Given the description of an element on the screen output the (x, y) to click on. 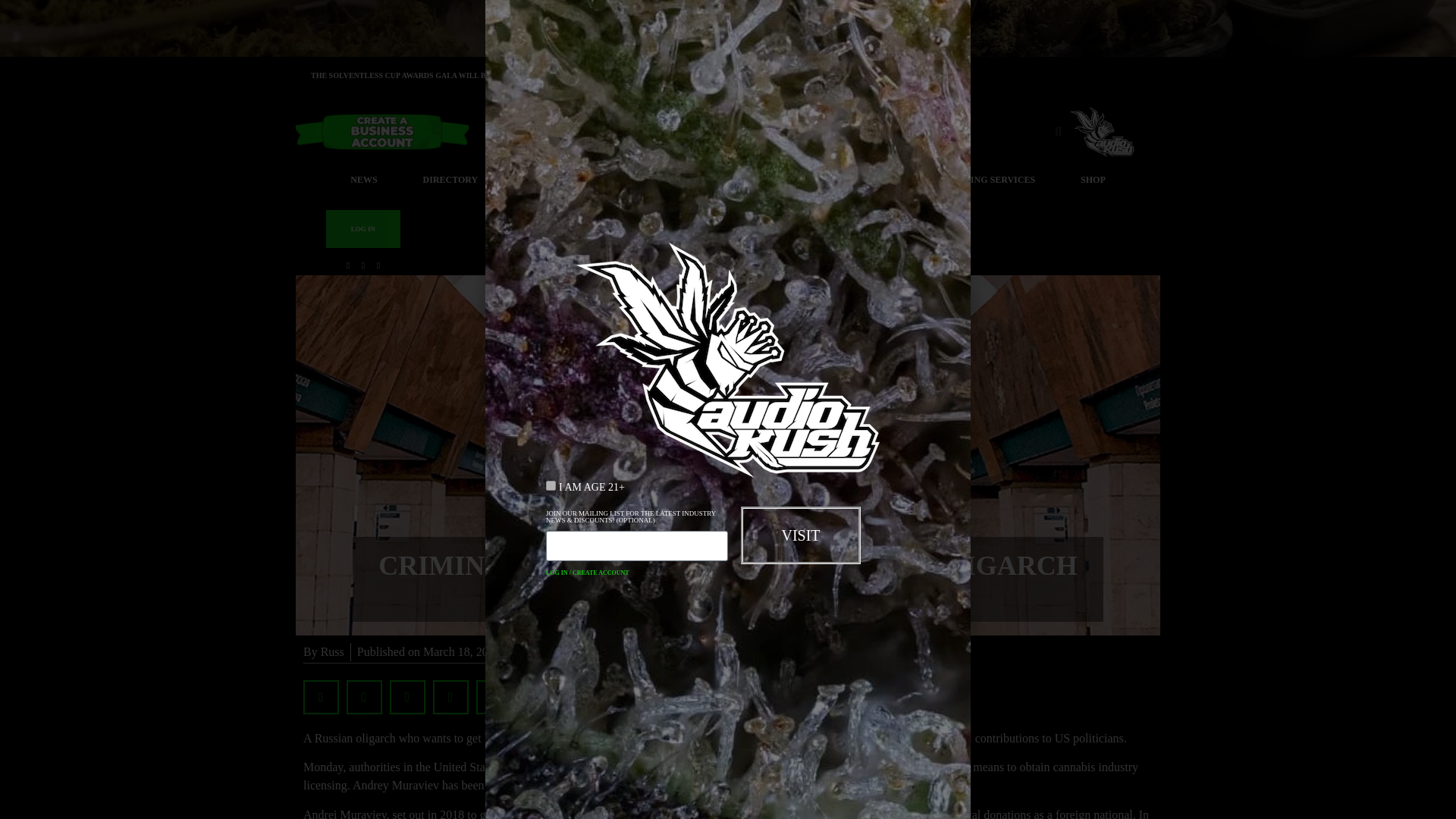
INDUSTRY JOBS (844, 179)
COFFEESHOPS (721, 179)
DIRECTORY (450, 179)
BLOG (536, 179)
on (551, 485)
EVENTS (616, 179)
NEWS (362, 179)
